Given the description of an element on the screen output the (x, y) to click on. 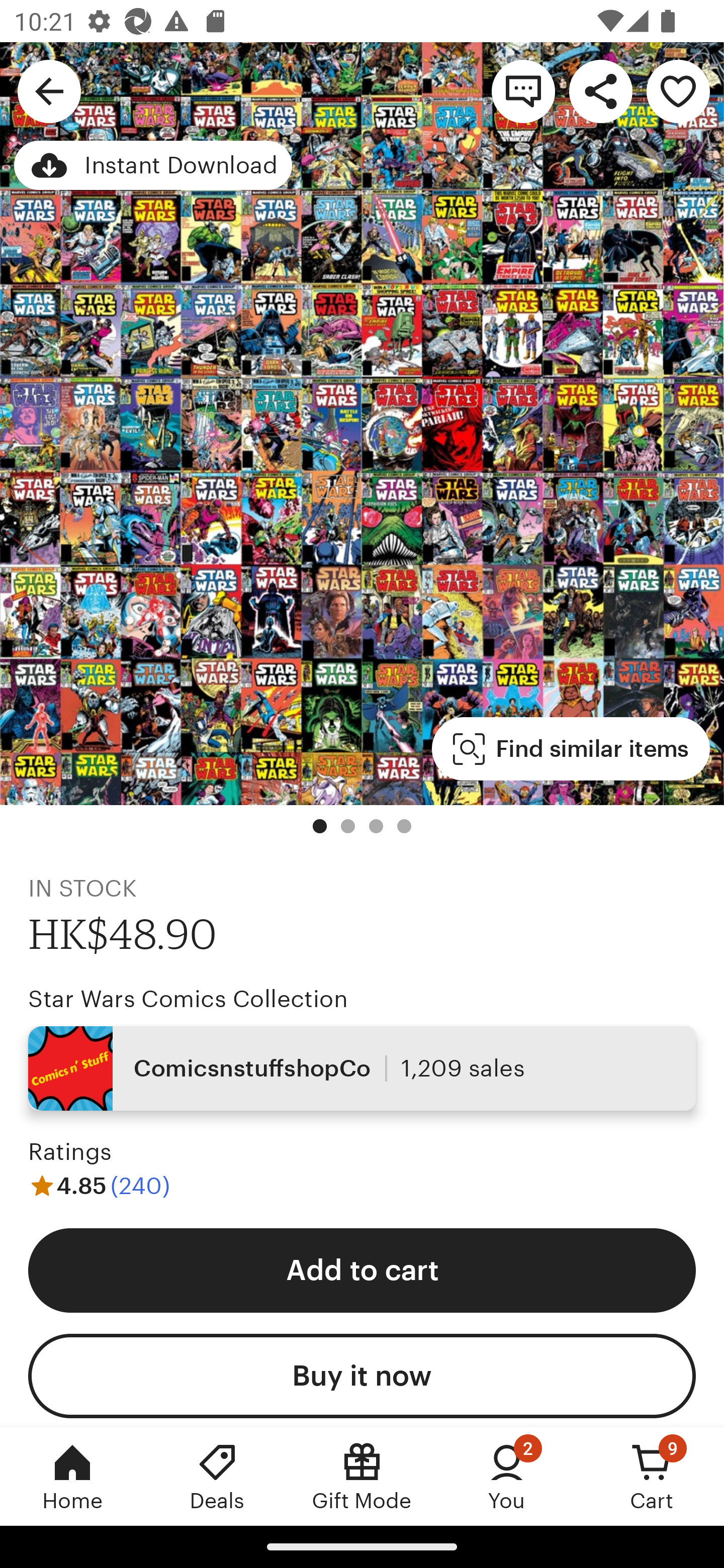
Navigate up (49, 90)
Contact shop (523, 90)
Share (600, 90)
Find similar items (571, 748)
Star Wars Comics Collection (188, 999)
ComicsnstuffshopCo 1,209 sales (361, 1067)
Ratings (70, 1151)
4.85 (240) (99, 1185)
Add to cart (361, 1269)
Buy it now (361, 1375)
Deals (216, 1475)
Gift Mode (361, 1475)
You, 2 new notifications You (506, 1475)
Cart, 9 new notifications Cart (651, 1475)
